Given the description of an element on the screen output the (x, y) to click on. 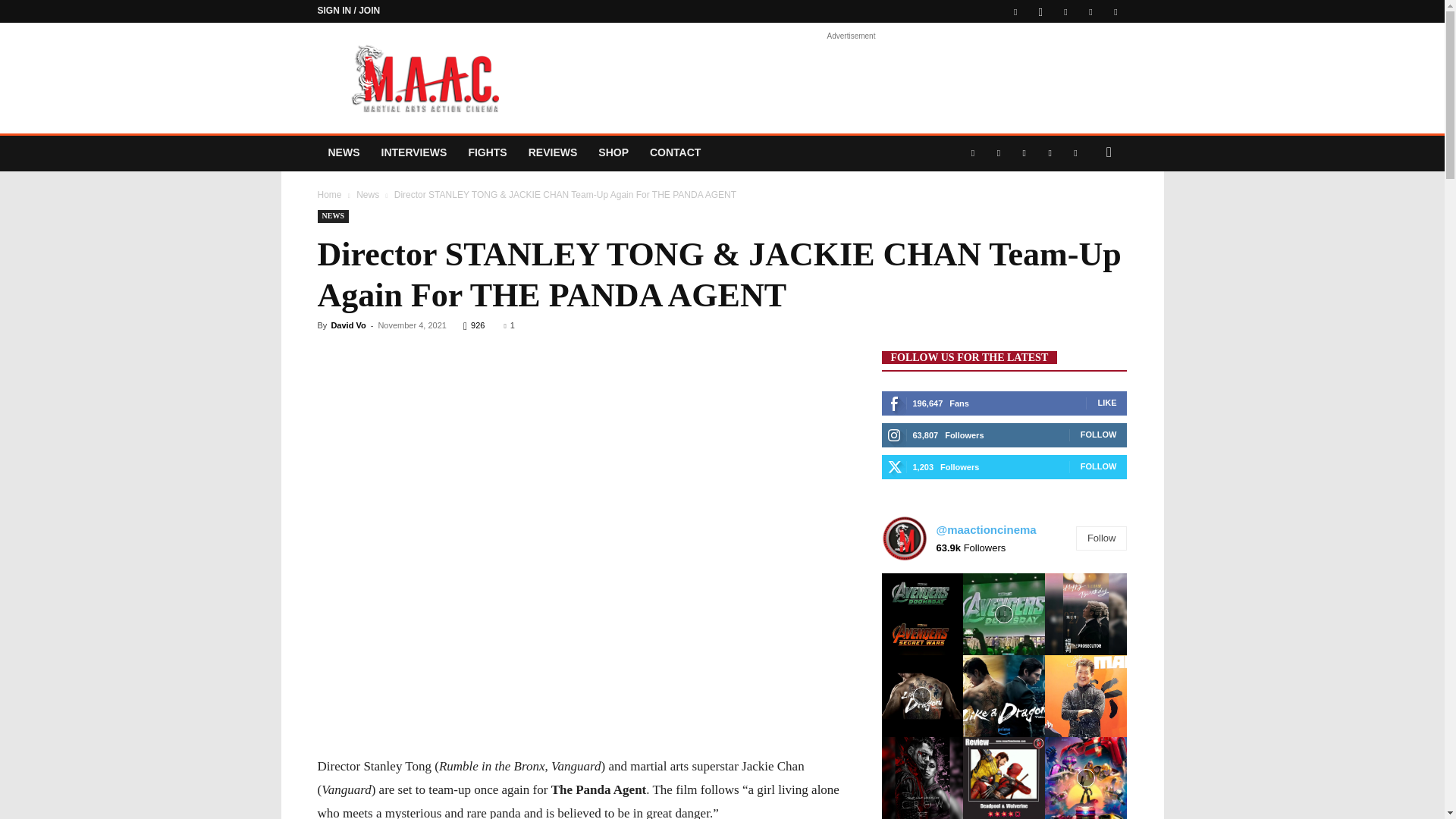
REVIEWS (553, 152)
Instagram (1040, 11)
SHOP (613, 152)
Youtube (1114, 11)
NEWS (343, 152)
Facebook (1015, 11)
Pinterest (1065, 11)
INTERVIEWS (413, 152)
Twitter (1090, 11)
FIGHTS (486, 152)
